Given the description of an element on the screen output the (x, y) to click on. 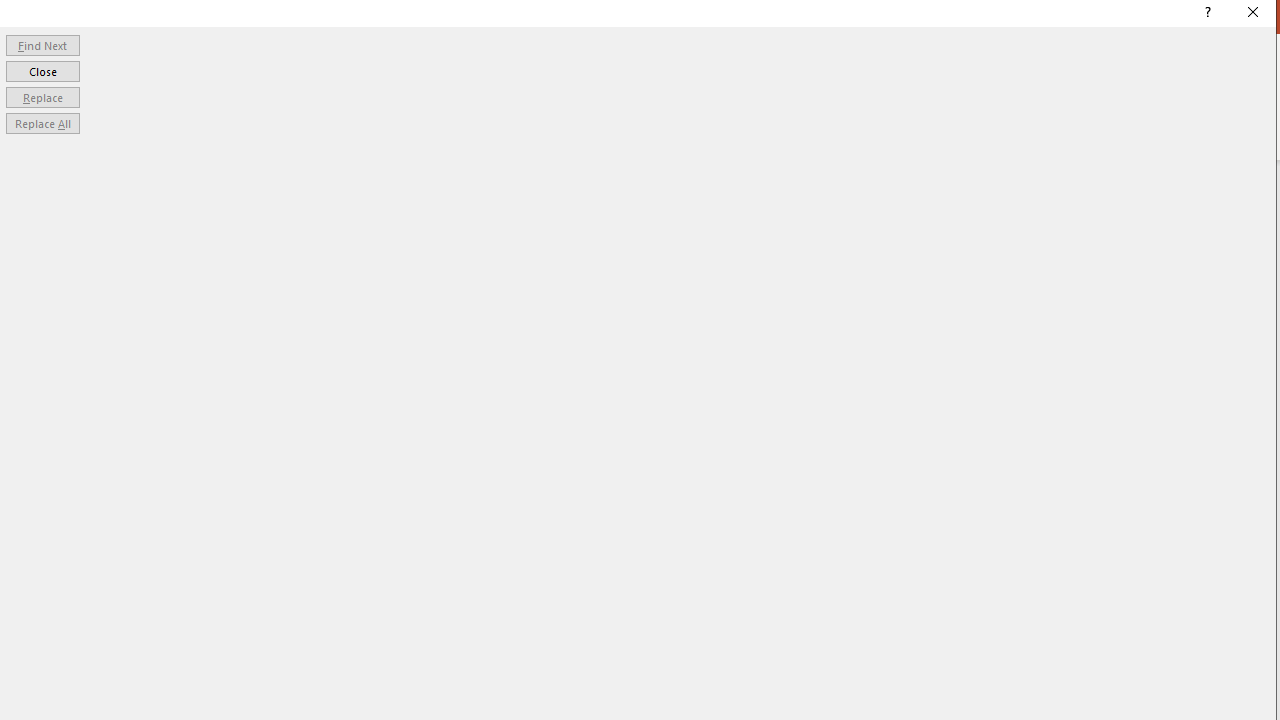
Find Next (42, 44)
Context help (1206, 14)
Replace All (42, 123)
Replace (42, 96)
